Given the description of an element on the screen output the (x, y) to click on. 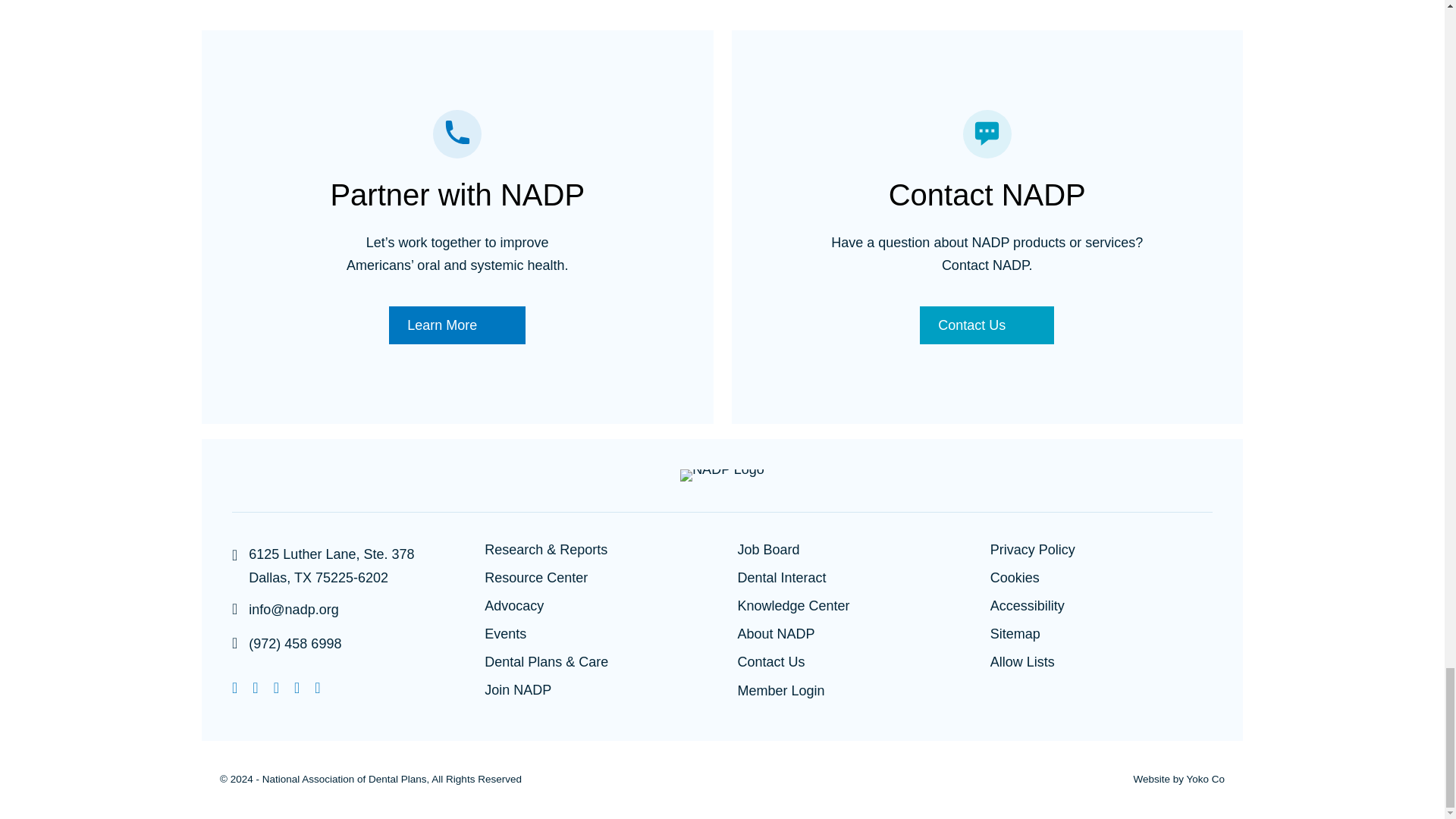
nadp-logo-text (721, 475)
Member Login (780, 691)
